Given the description of an element on the screen output the (x, y) to click on. 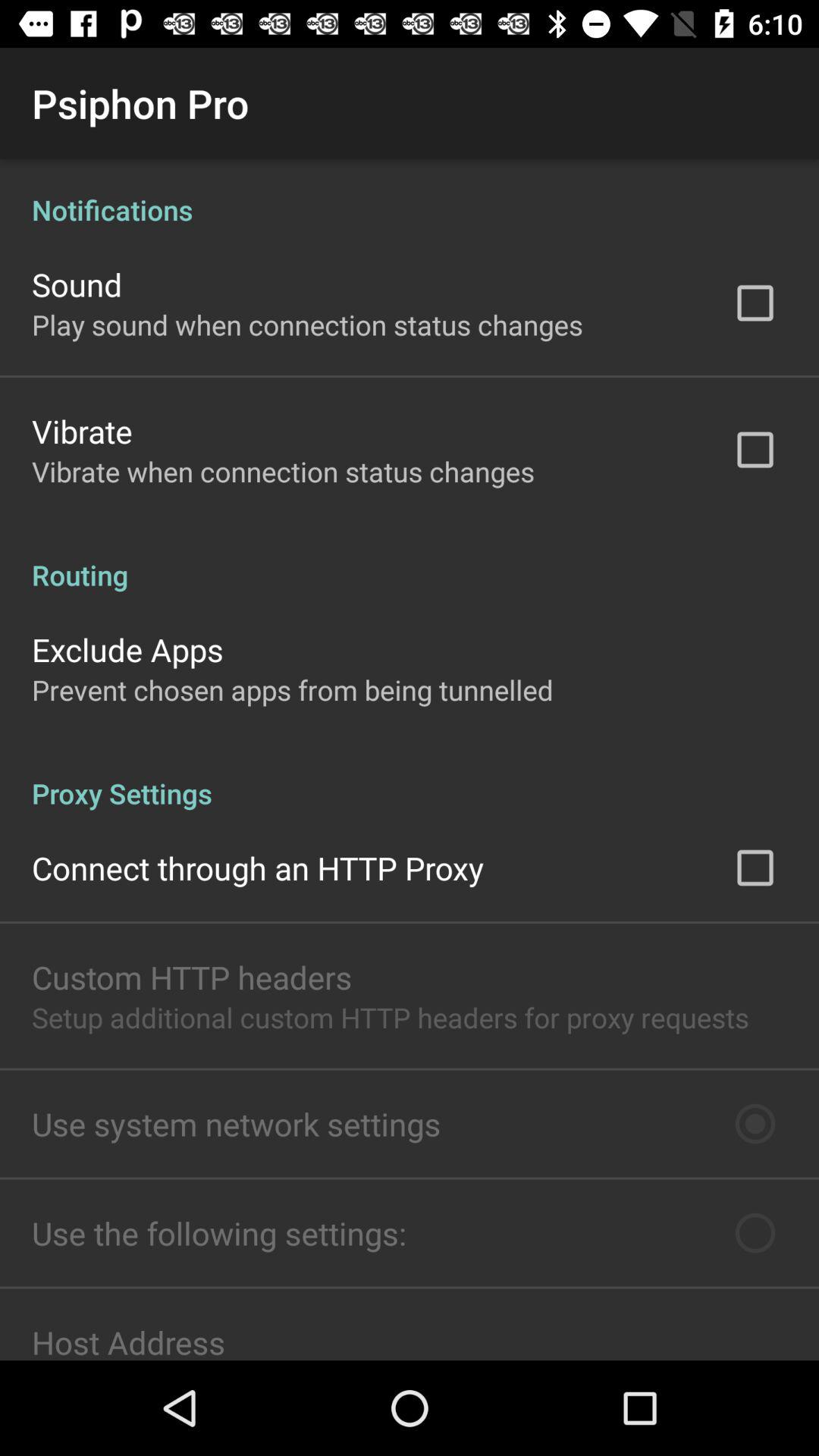
press exclude apps item (127, 649)
